Given the description of an element on the screen output the (x, y) to click on. 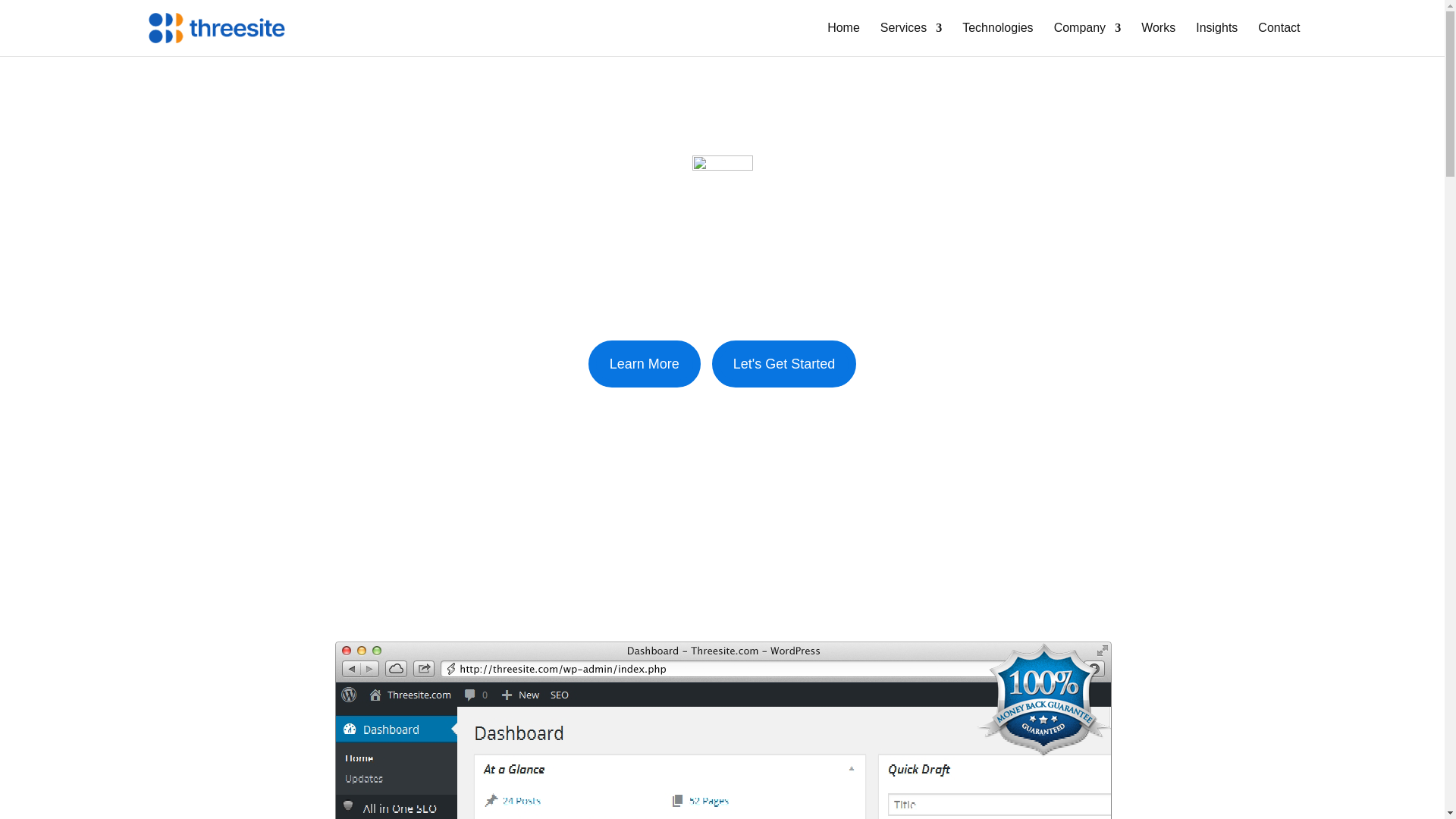
Let's Get Started (784, 363)
Insights (1216, 39)
Services (911, 39)
Home (843, 39)
Learn More (644, 363)
Contact (1278, 39)
Works (1157, 39)
Company (1087, 39)
Technologies (997, 39)
